Given the description of an element on the screen output the (x, y) to click on. 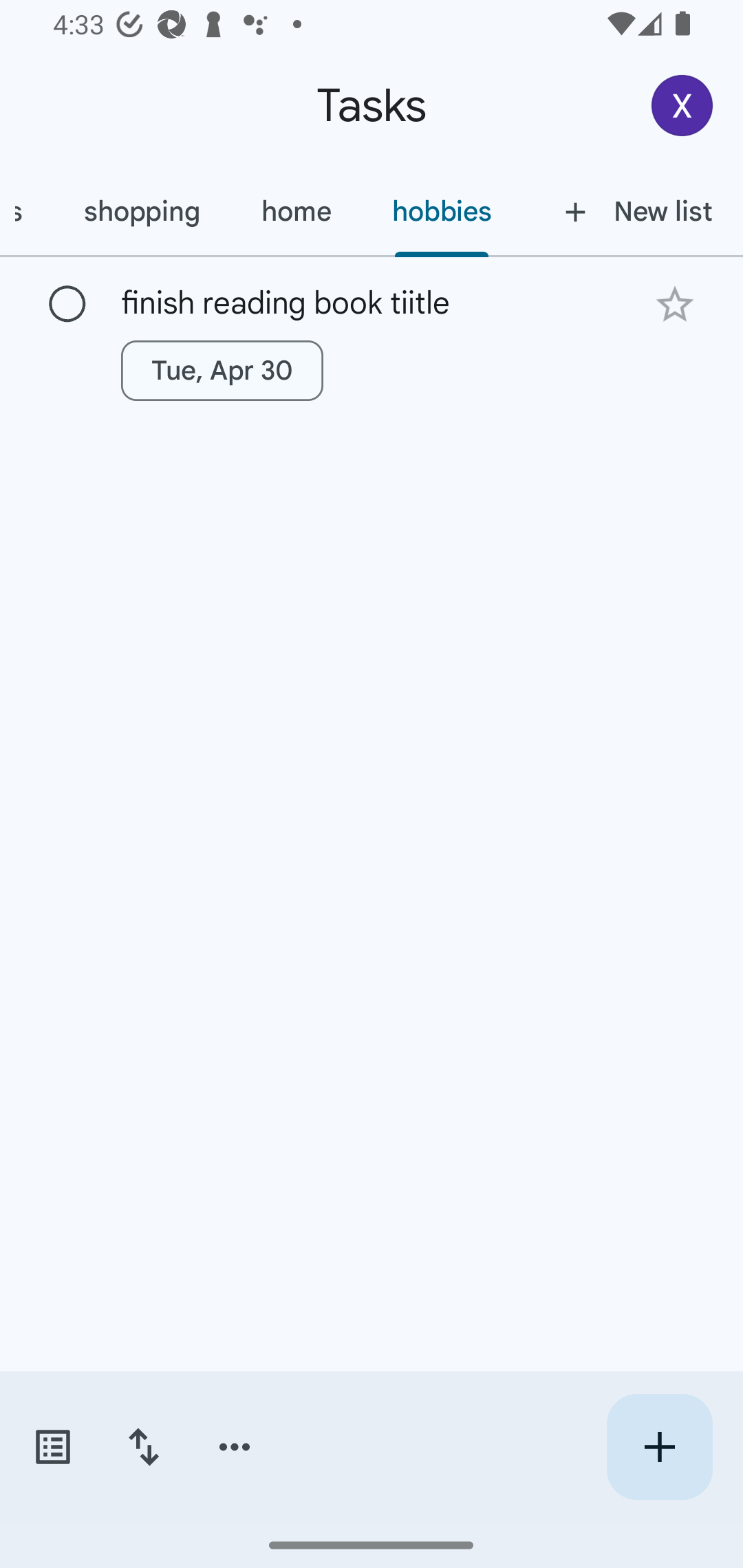
shopping (141, 211)
home (295, 211)
New list (632, 211)
Add star (674, 303)
Mark as complete (67, 304)
Tue, Apr 30 (222, 369)
Switch task lists (52, 1447)
Create new task (659, 1446)
Change sort order (143, 1446)
More options (234, 1446)
